Given the description of an element on the screen output the (x, y) to click on. 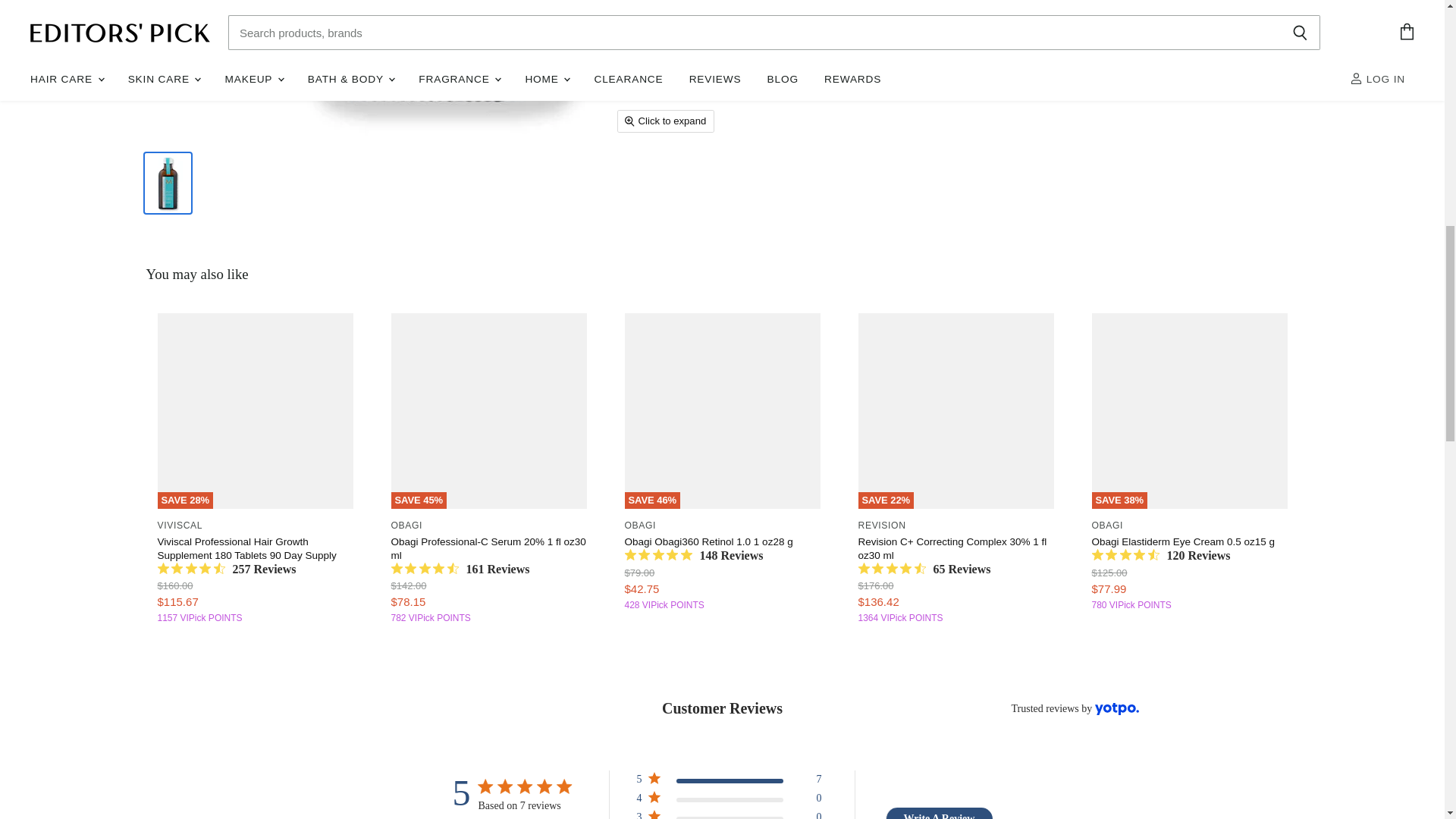
65 Reviews (925, 569)
161 Reviews (460, 569)
120 Reviews (1161, 555)
148 Reviews (693, 555)
257 Reviews (227, 569)
